Given the description of an element on the screen output the (x, y) to click on. 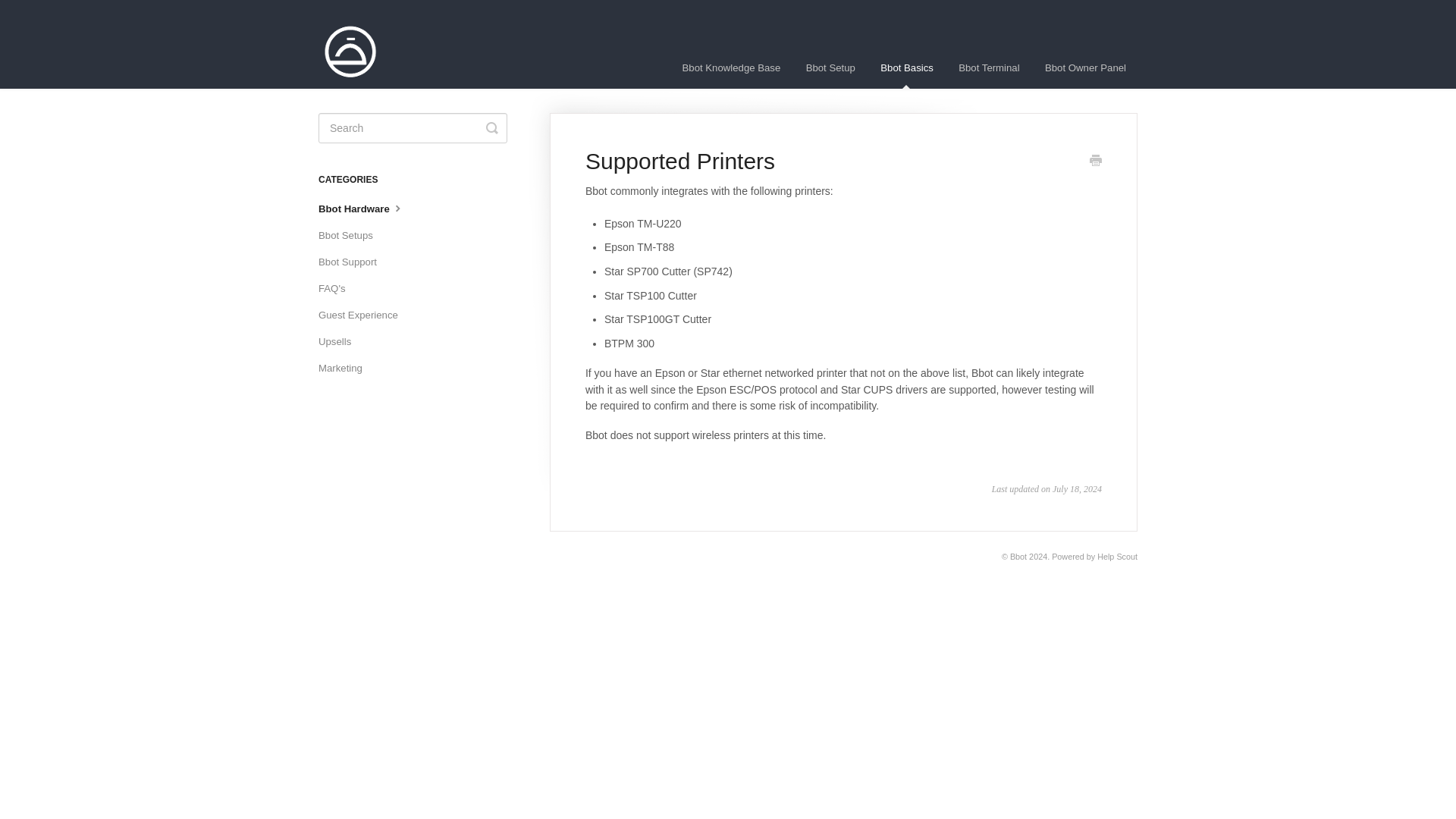
Bbot Terminal (988, 67)
Upsells (340, 341)
Bbot Owner Panel (1085, 67)
Bbot (1018, 556)
Help Scout (1117, 556)
Marketing (346, 368)
Guest Experience (363, 315)
Bbot Hardware (367, 208)
Bbot Setups (351, 235)
Bbot Basics (906, 67)
search-query (412, 128)
Toggle Search (491, 128)
Bbot Knowledge Base (731, 67)
Bbot Setup (830, 67)
FAQ's (337, 288)
